Given the description of an element on the screen output the (x, y) to click on. 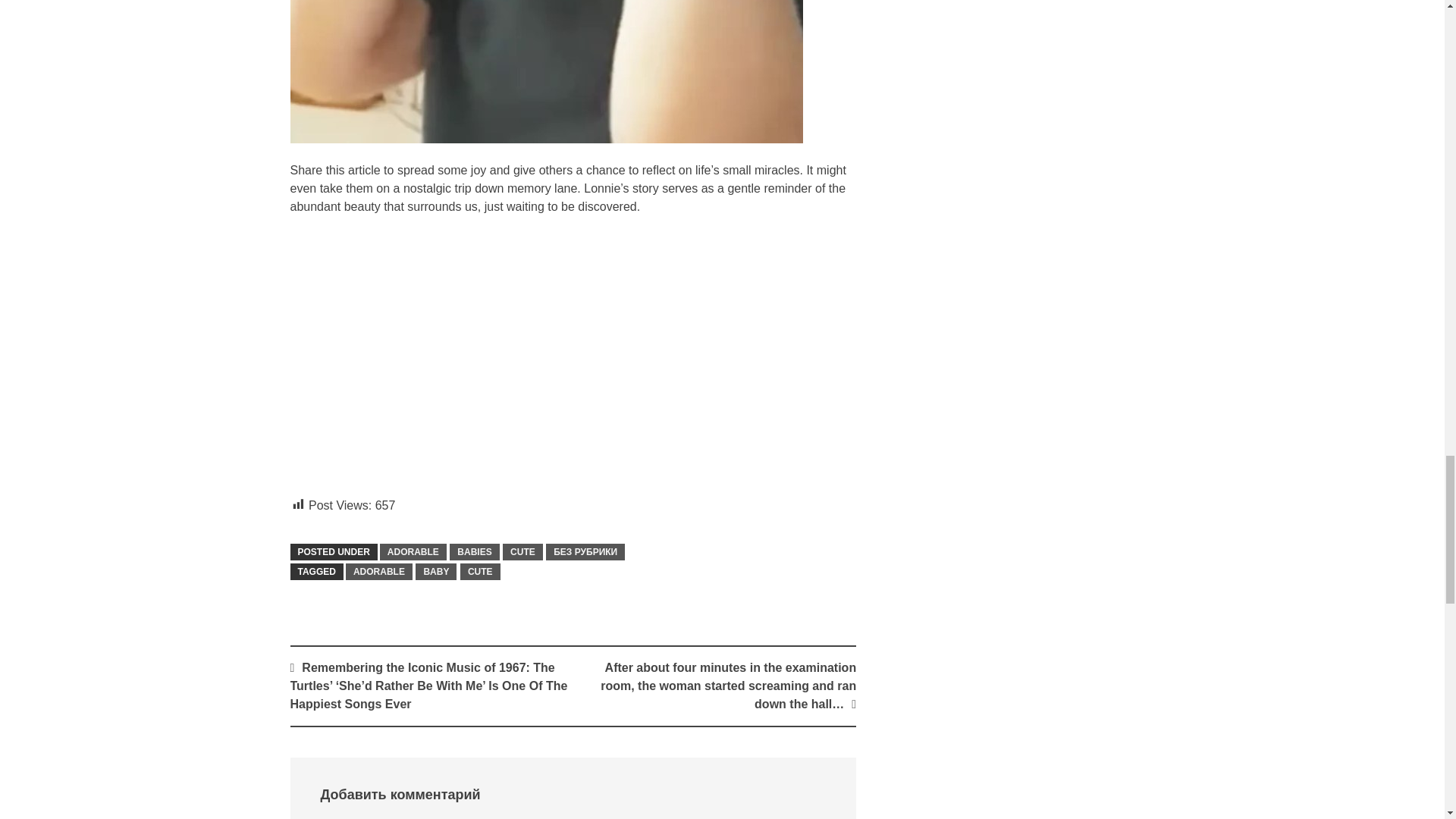
BABY (435, 571)
ADORABLE (379, 571)
YouTube video player (501, 353)
ADORABLE (413, 551)
BABIES (474, 551)
CUTE (522, 551)
CUTE (480, 571)
